Given the description of an element on the screen output the (x, y) to click on. 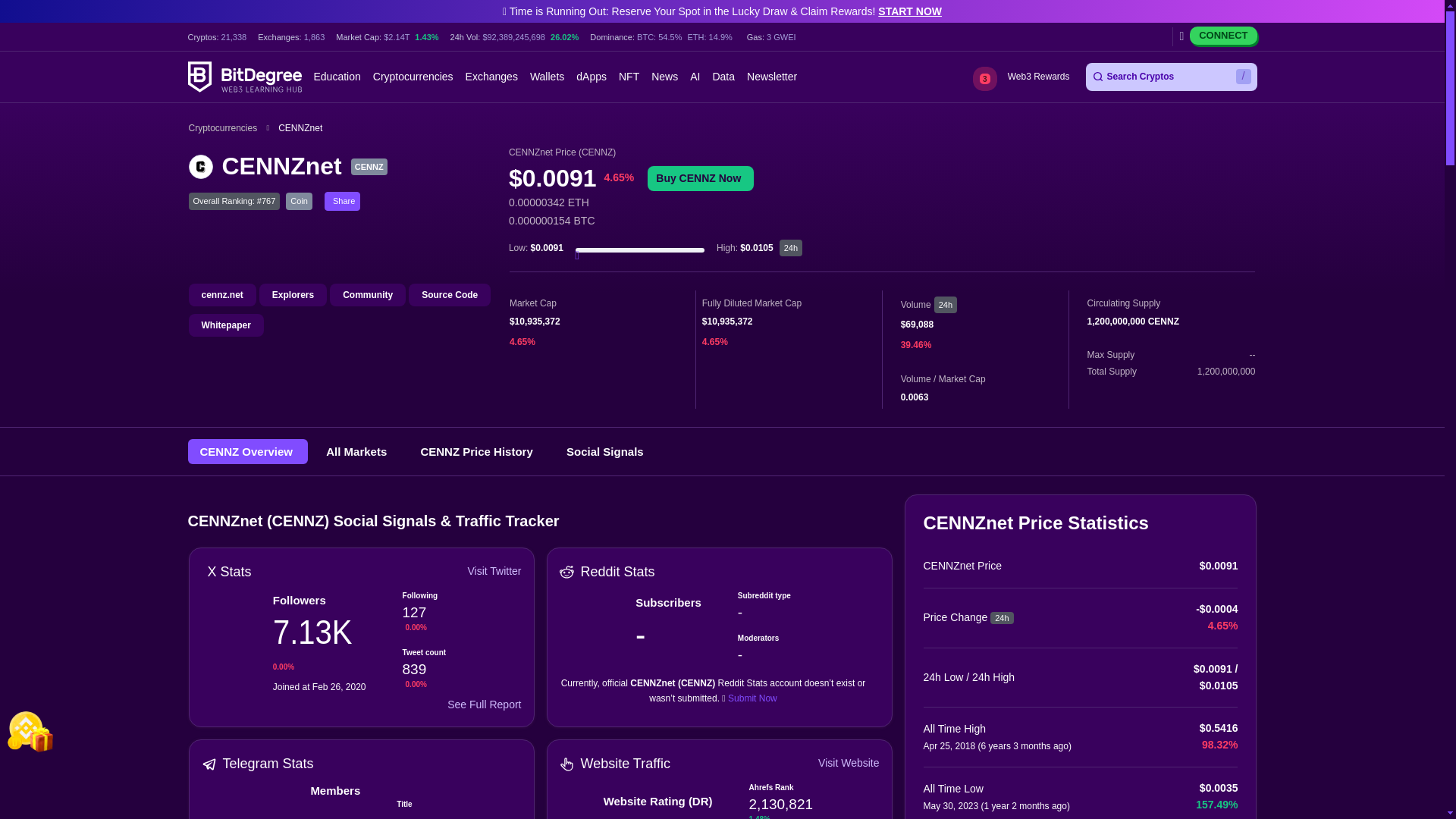
CENNZnet traffic (567, 764)
Whitepaper (225, 324)
CENNZ Overview (247, 451)
Cryptocurrencies (412, 76)
cennz.net (221, 294)
NFT (628, 76)
Web3 Rewards (1037, 77)
Buy CENNZ Now (700, 177)
Wallets (546, 76)
News (664, 76)
